Given the description of an element on the screen output the (x, y) to click on. 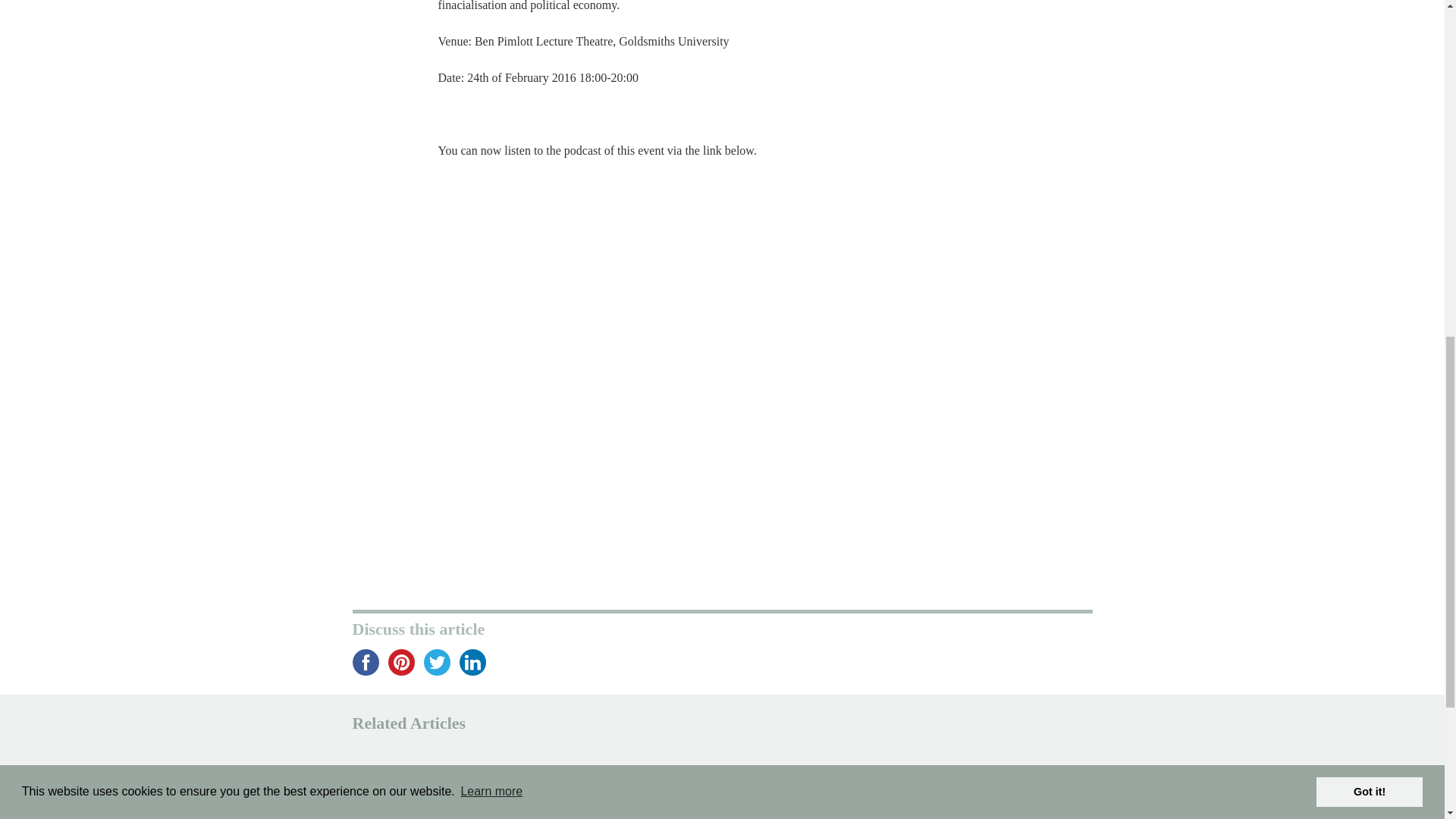
Got it! (1369, 71)
pinterest (401, 662)
Learn more (491, 70)
facebook (365, 662)
linkedin (473, 662)
twitter (436, 662)
